Given the description of an element on the screen output the (x, y) to click on. 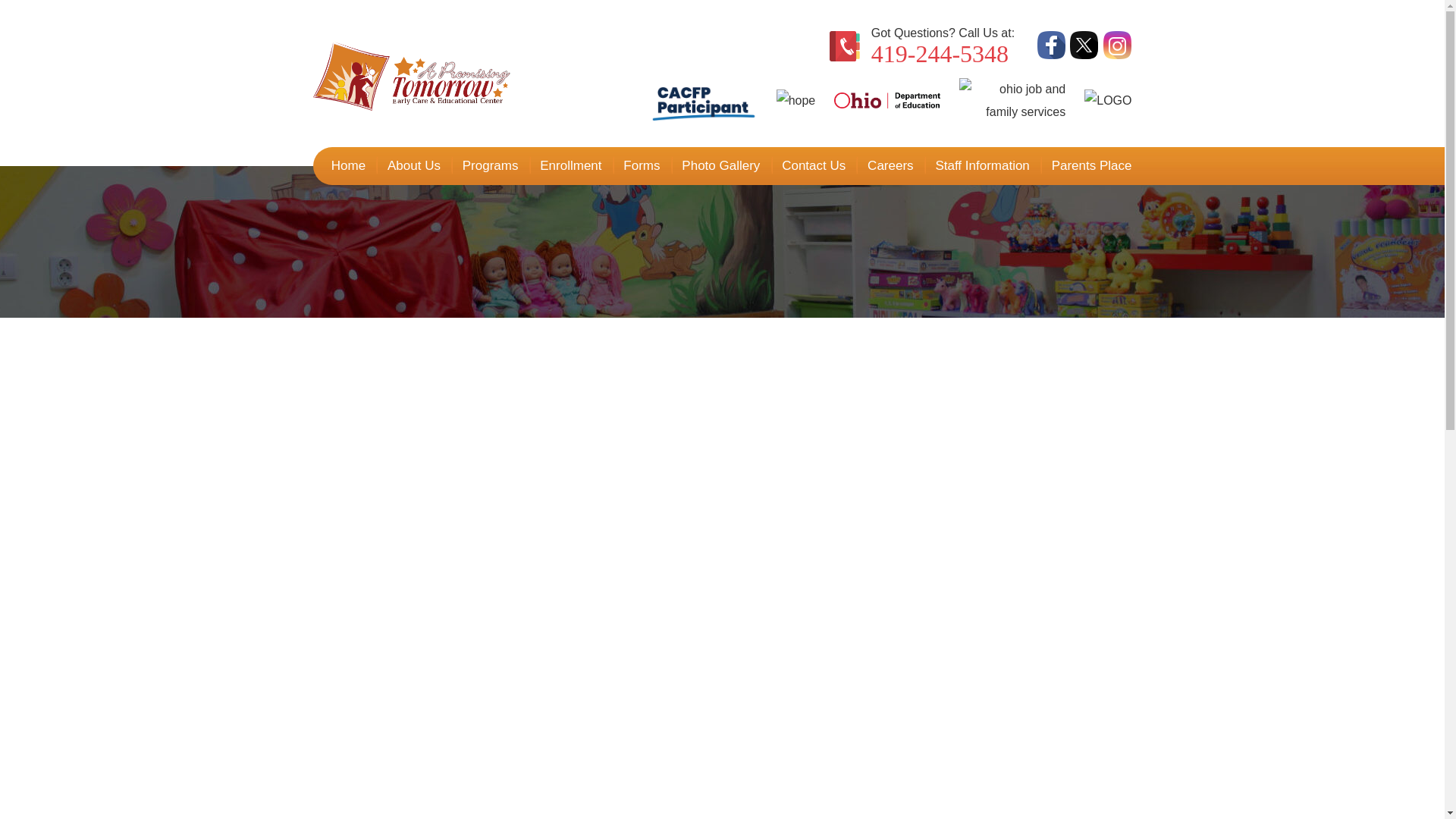
Enrollment (571, 166)
Home (348, 166)
Programs (489, 166)
Contact Us (813, 166)
Staff Information (982, 166)
Careers (891, 166)
Parents Place (1086, 166)
Photo Gallery (720, 166)
About Us (413, 166)
Forms (641, 166)
